Given the description of an element on the screen output the (x, y) to click on. 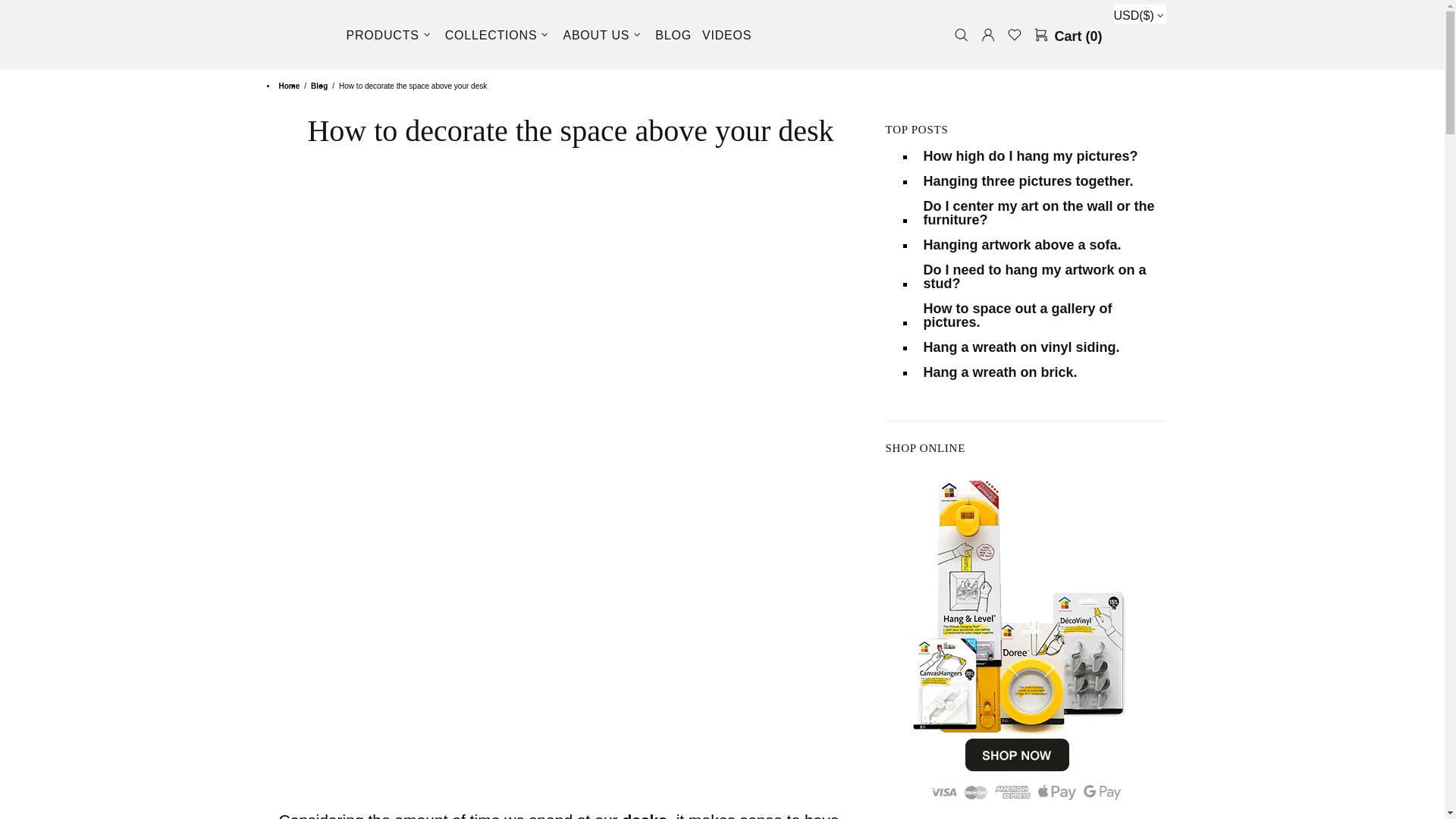
Hanging artwork above a sofa (1022, 244)
Hang a wreath on brick (1000, 372)
PRODUCTS (389, 34)
Do I need to hang my picture on a wall stud? (1042, 276)
ABOUT US (603, 34)
UTR Decorating (303, 34)
Hanging three pictures together. (1028, 181)
Do I center my art on the wall or the furniture? (1042, 212)
COLLECTIONS (498, 34)
Home (288, 86)
